Given the description of an element on the screen output the (x, y) to click on. 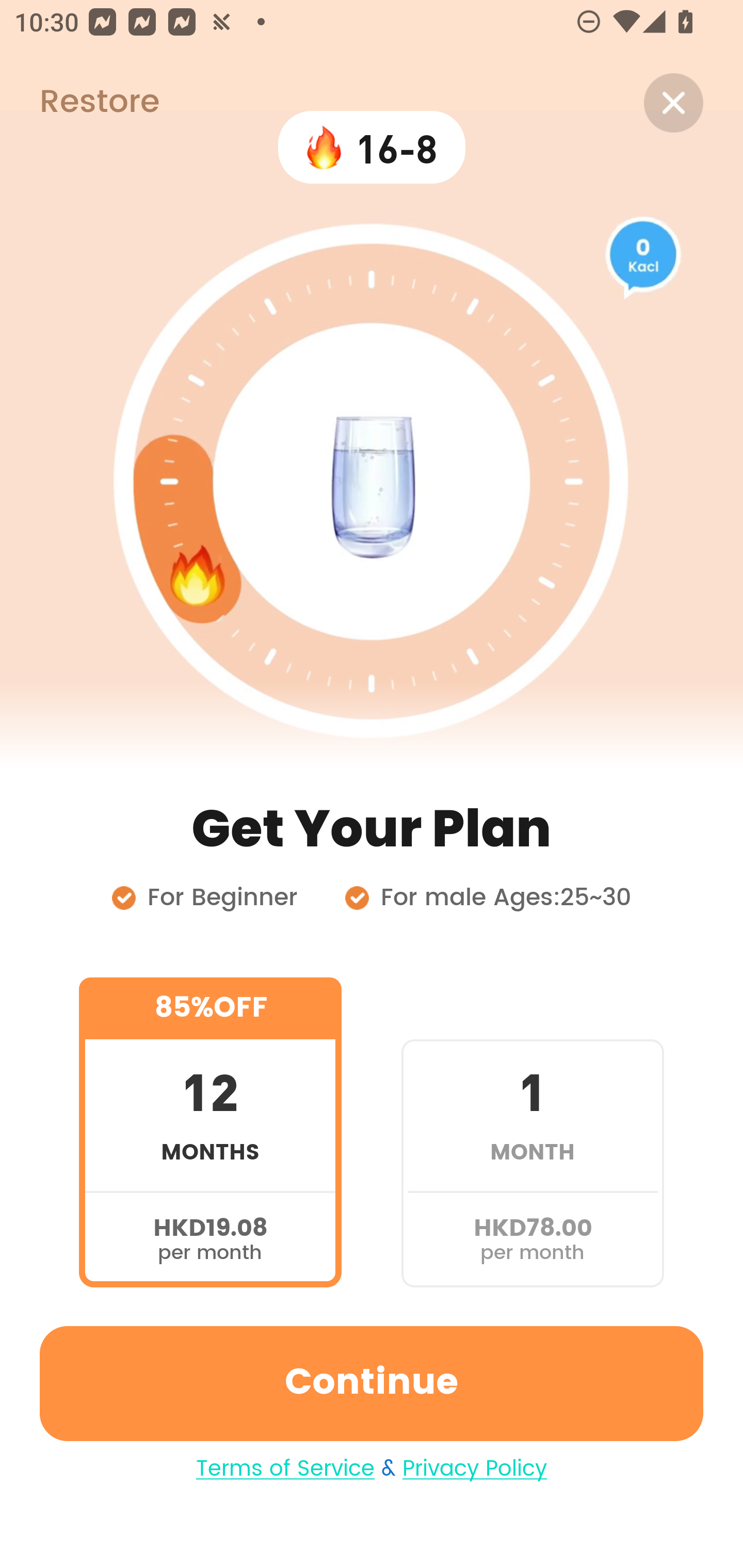
Restore (79, 102)
85%OFF 12 MONTHS per month HKD19.08 (209, 1131)
1 MONTH per month HKD78.00 (532, 1131)
Continue (371, 1383)
